Given the description of an element on the screen output the (x, y) to click on. 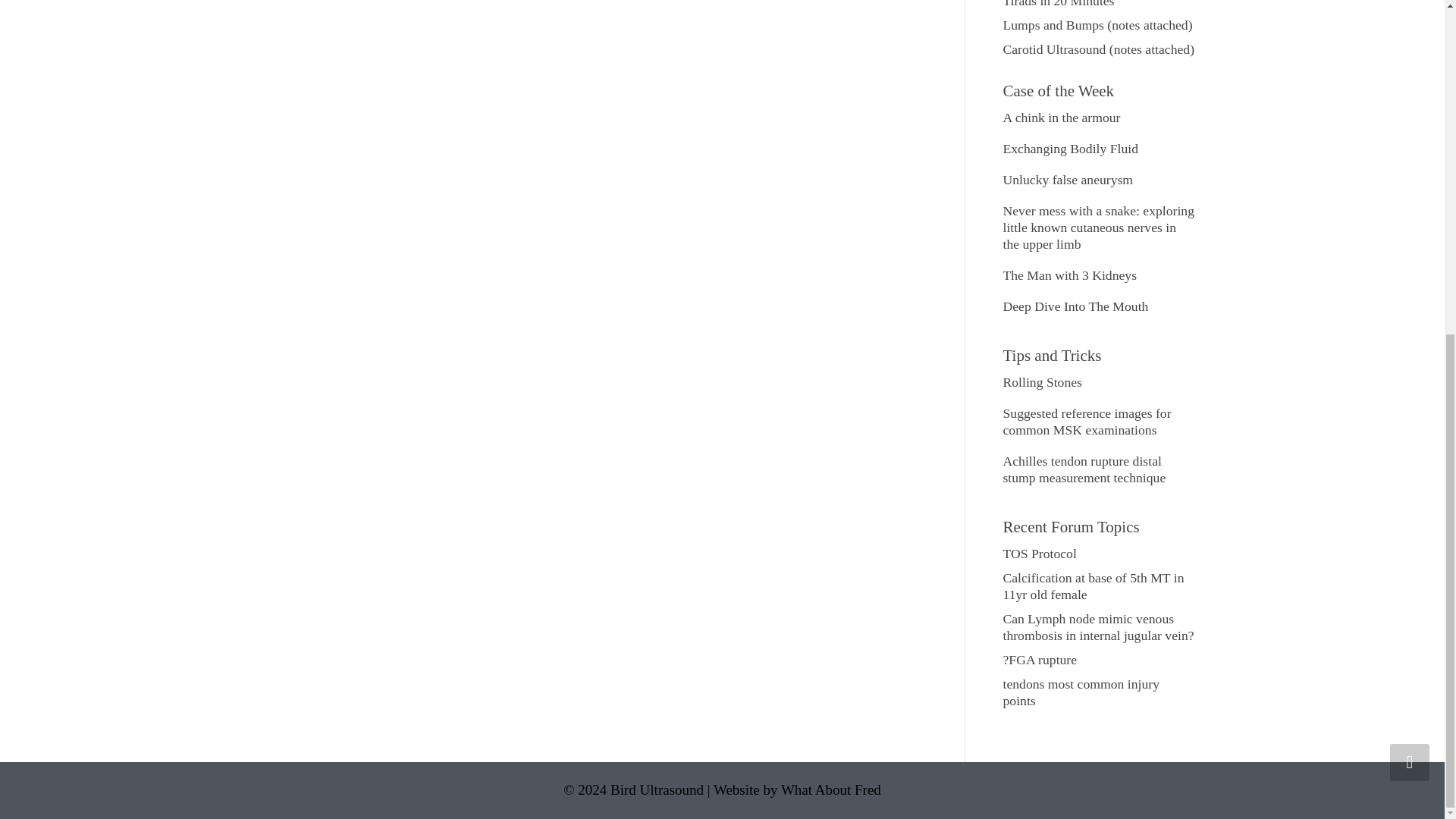
TOS Protocol (1039, 553)
Tirads in 20 Minutes (1058, 4)
tendons most common injury points (1080, 692)
Tirads in 20 Minutes (1058, 4)
Unlucky false aneurysm (1067, 179)
Deep Dive Into The Mouth (1075, 305)
Calcification at base of 5th MT in 11yr old female (1093, 585)
?FGA rupture (1040, 659)
Rolling Stones (1042, 381)
Achilles tendon rupture distal stump measurement technique (1084, 469)
